Given the description of an element on the screen output the (x, y) to click on. 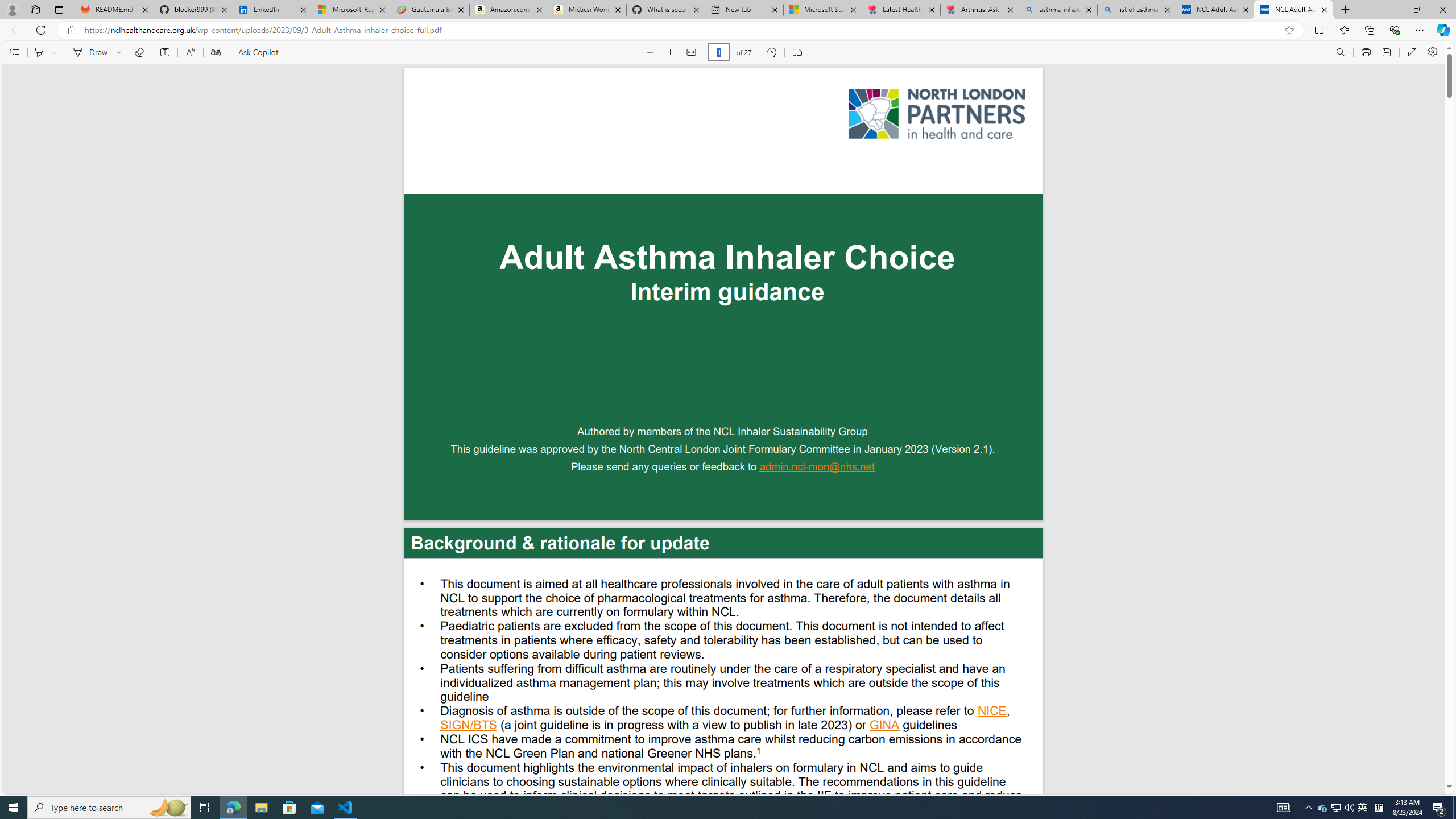
Contents (14, 52)
Enter PDF full screen (1412, 52)
Print (Ctrl+P) (1365, 52)
Save (Ctrl+S) (1385, 52)
PDF bar (723, 51)
admin.ncl-mon@nhs.net (817, 467)
